Given the description of an element on the screen output the (x, y) to click on. 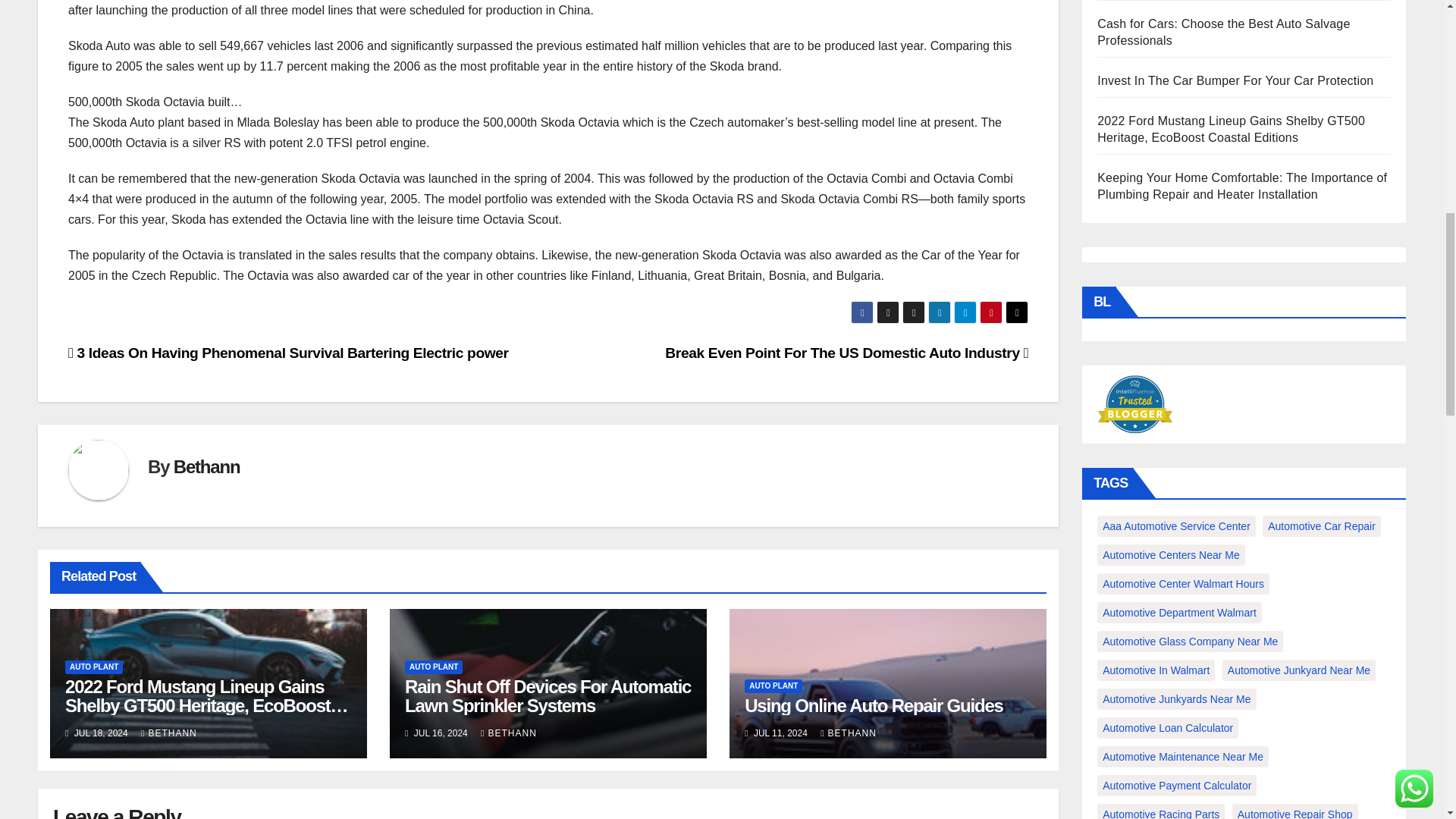
Break Even Point For The US Domestic Auto Industry (846, 352)
AUTO PLANT (93, 667)
Bethann (206, 466)
